Given the description of an element on the screen output the (x, y) to click on. 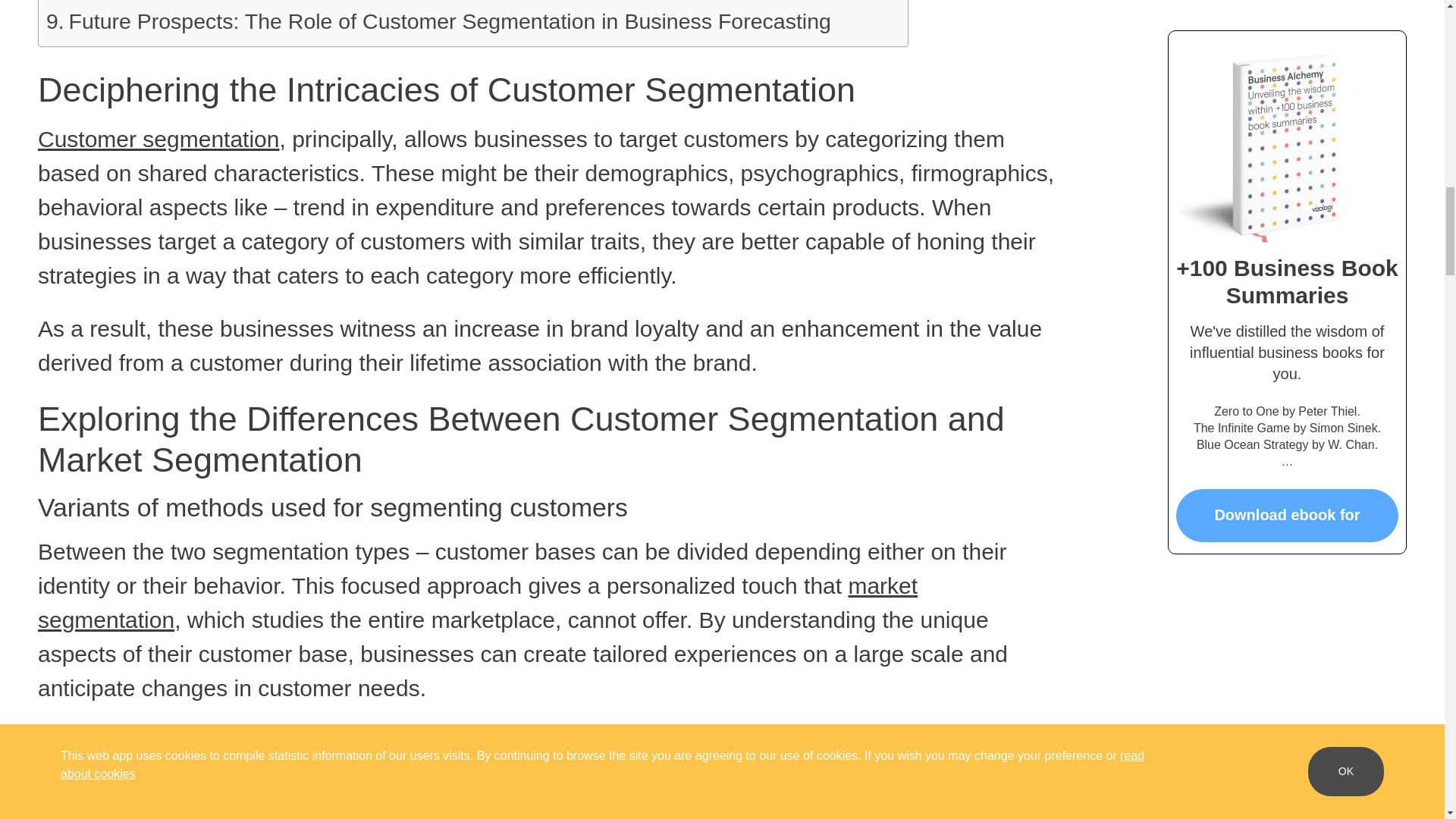
Customer segmentation (158, 138)
market segmentation (477, 602)
